Given the description of an element on the screen output the (x, y) to click on. 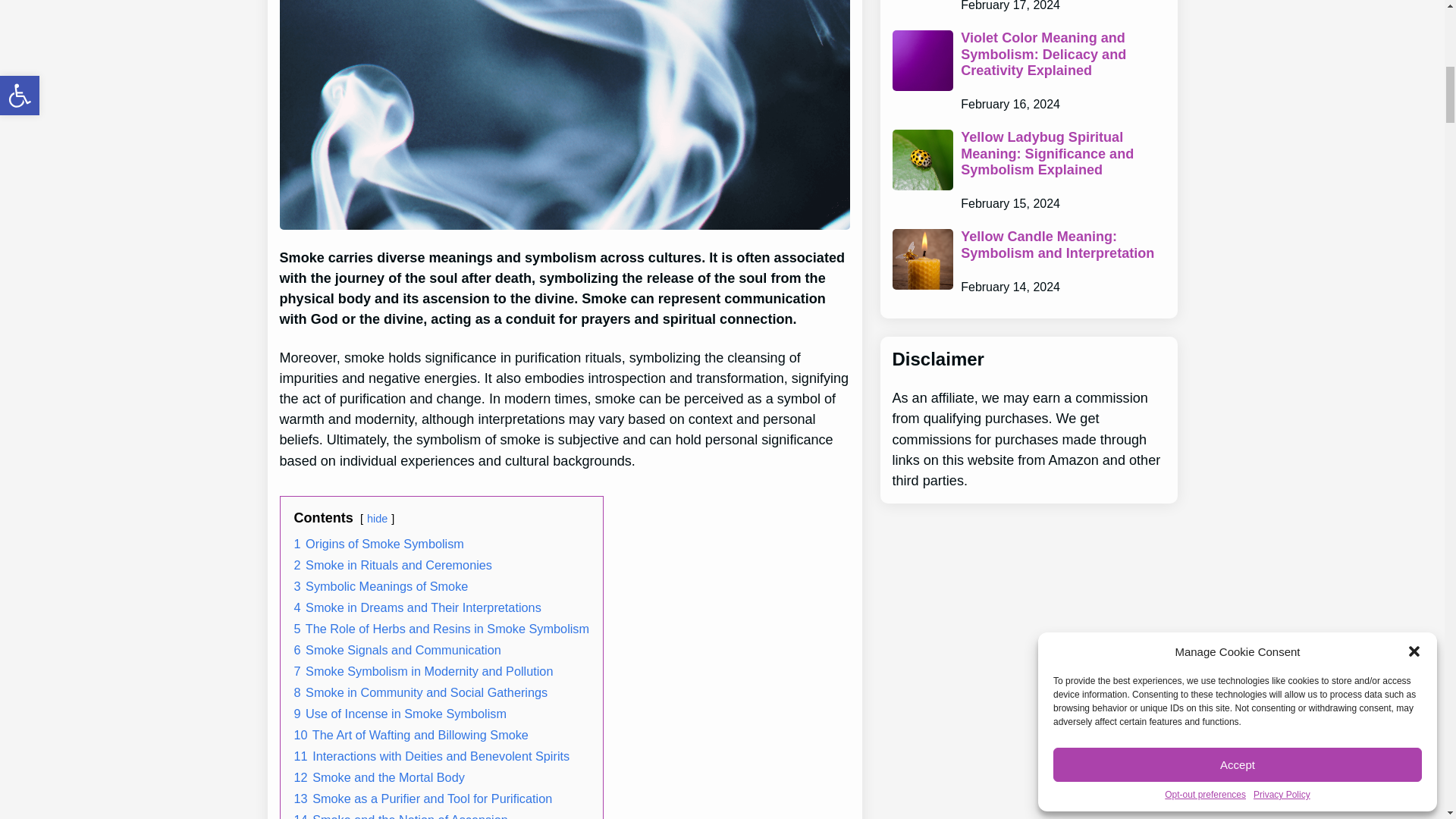
6 Smoke Signals and Communication (397, 649)
1 Origins of Smoke Symbolism (379, 543)
hide (376, 518)
2 Smoke in Rituals and Ceremonies (393, 564)
4 Smoke in Dreams and Their Interpretations (417, 607)
8 Smoke in Community and Social Gatherings (421, 692)
7 Smoke Symbolism in Modernity and Pollution (423, 671)
5 The Role of Herbs and Resins in Smoke Symbolism (441, 628)
3 Symbolic Meanings of Smoke (381, 585)
